Given the description of an element on the screen output the (x, y) to click on. 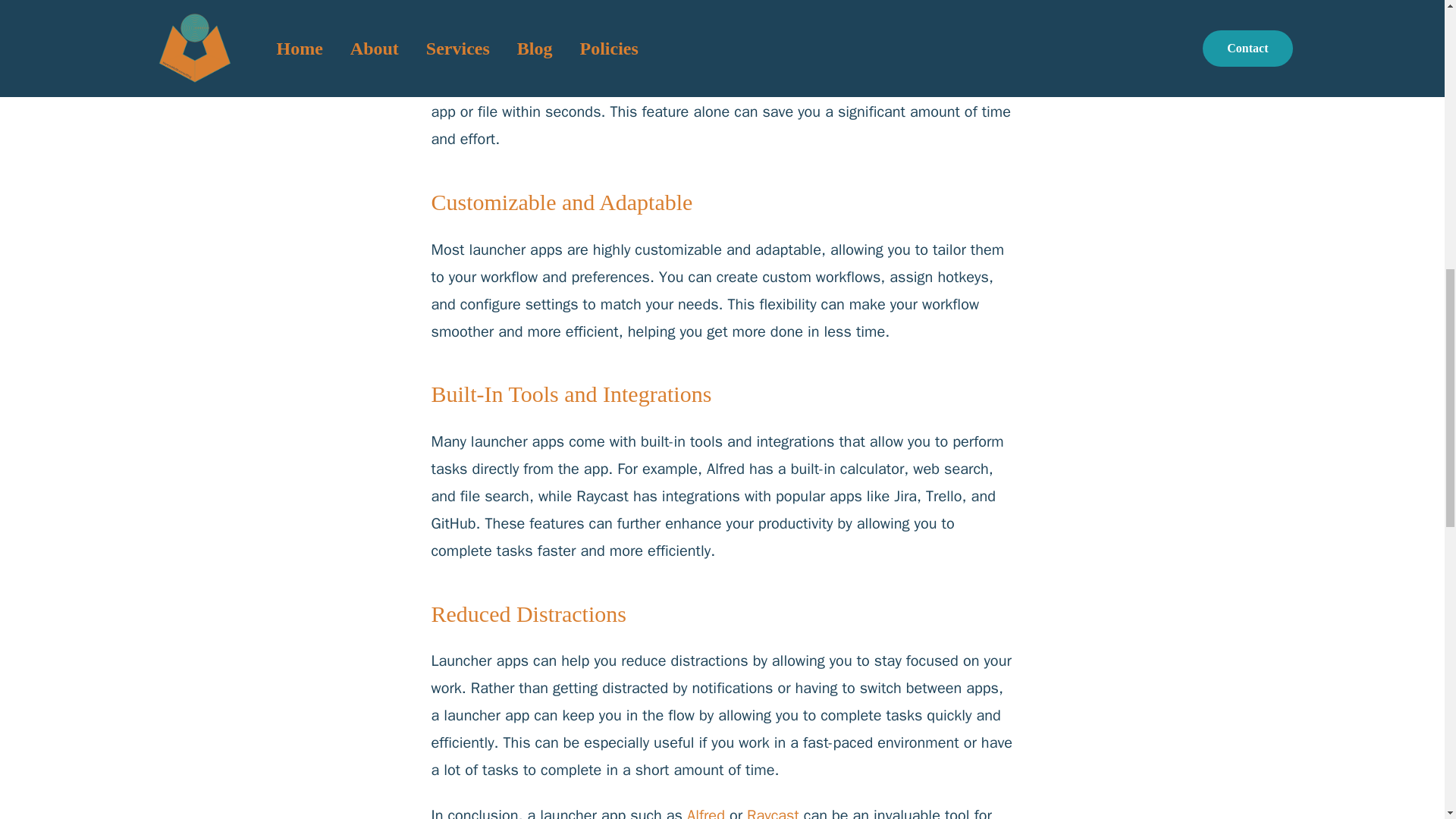
Raycast (772, 812)
Alfred (706, 812)
